Given the description of an element on the screen output the (x, y) to click on. 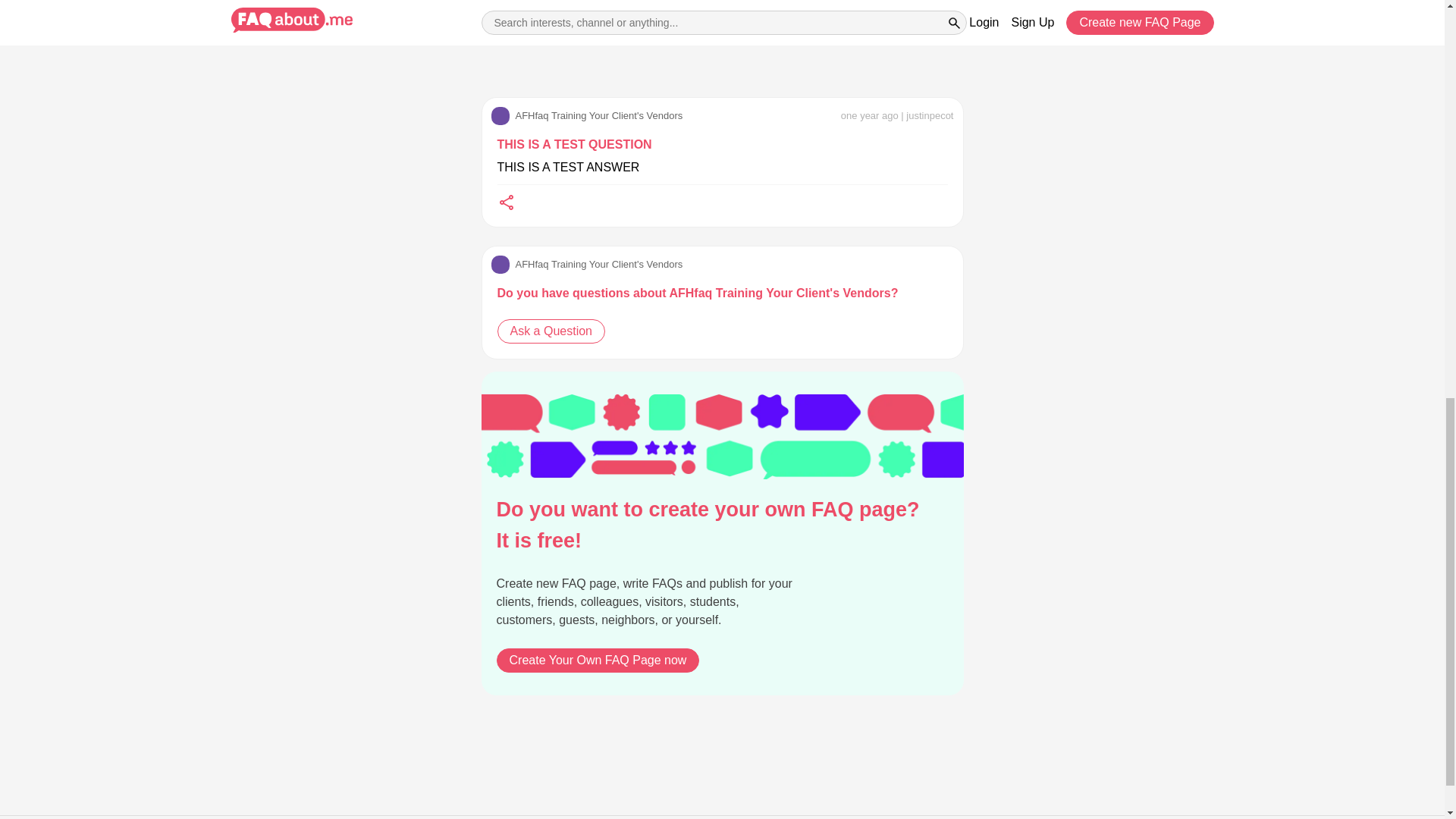
THIS IS A TEST QUESTION (574, 144)
AFHfaq Training Your Client's Vendors (587, 264)
THIS IS A TEST QUESTION (574, 144)
AFHfaq Training Your Client's Vendors (587, 116)
Create Your Own FAQ Page now (597, 660)
Ask a Question (551, 331)
AFHfaq Training Your Client's Vendors (587, 116)
